Given the description of an element on the screen output the (x, y) to click on. 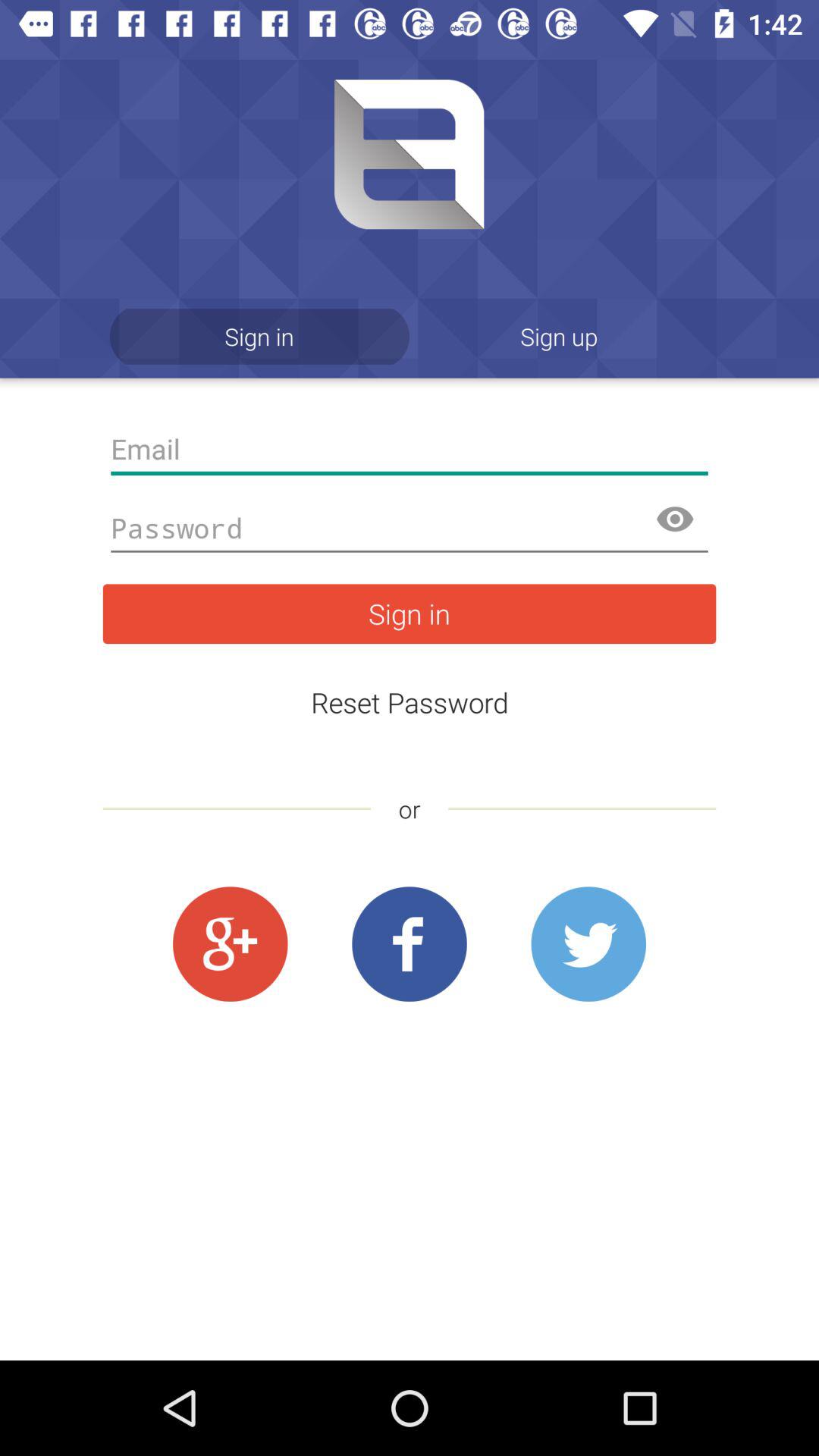
flip to the reset password item (409, 702)
